Given the description of an element on the screen output the (x, y) to click on. 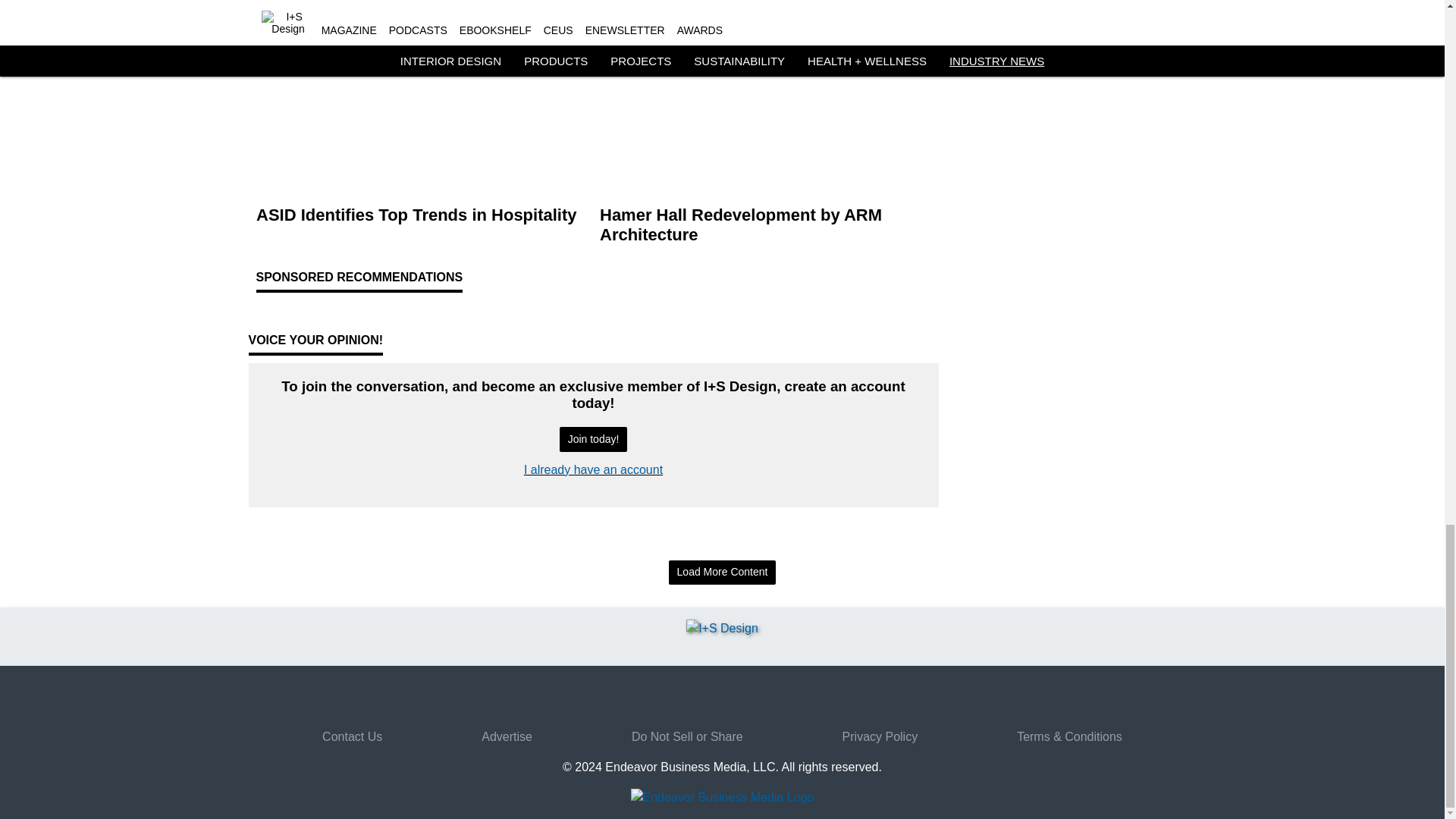
Join today! (593, 439)
Load More Content (722, 572)
Hamer Hall Redevelopment by ARM Architecture (764, 224)
ASID Identifies Top Trends in Hospitality (422, 215)
I already have an account (593, 469)
